Given the description of an element on the screen output the (x, y) to click on. 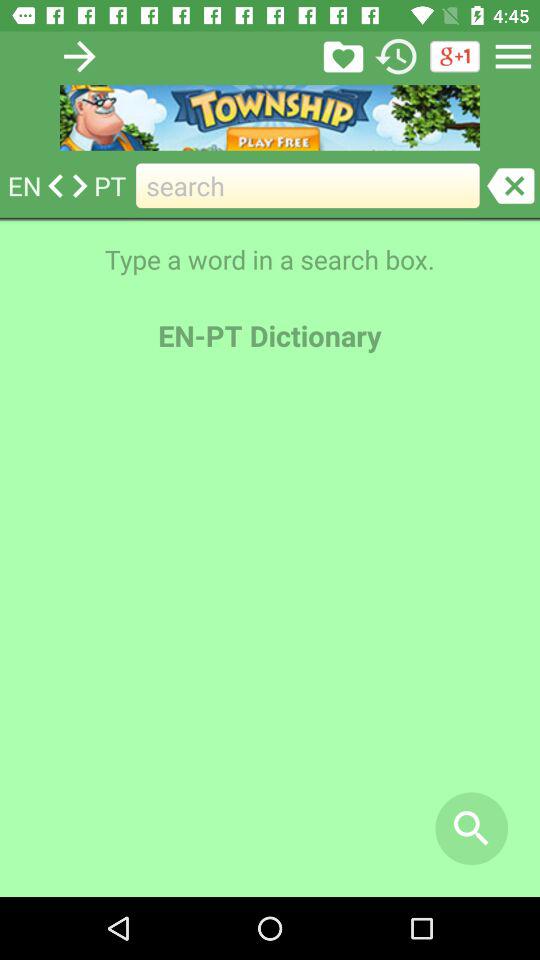
share the article (343, 56)
